Given the description of an element on the screen output the (x, y) to click on. 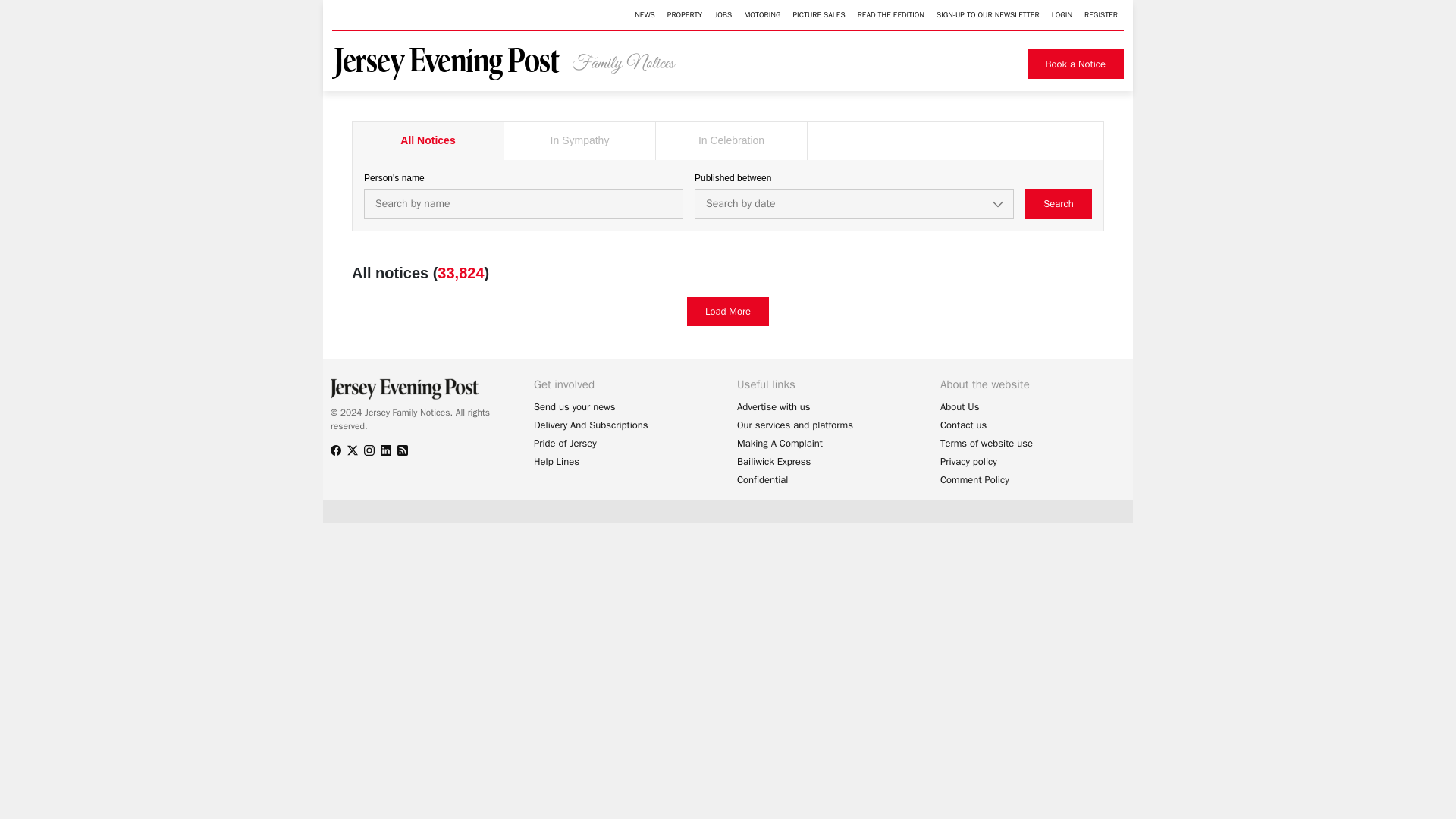
PROPERTY (684, 14)
Search (1058, 204)
JOBS (722, 14)
All Notices (427, 140)
MOTORING (762, 14)
SIGN-UP TO OUR NEWSLETTER (987, 14)
Jersey Family Notices (512, 63)
In Celebration (732, 140)
LOGIN (1061, 14)
In Sympathy (579, 140)
